Given the description of an element on the screen output the (x, y) to click on. 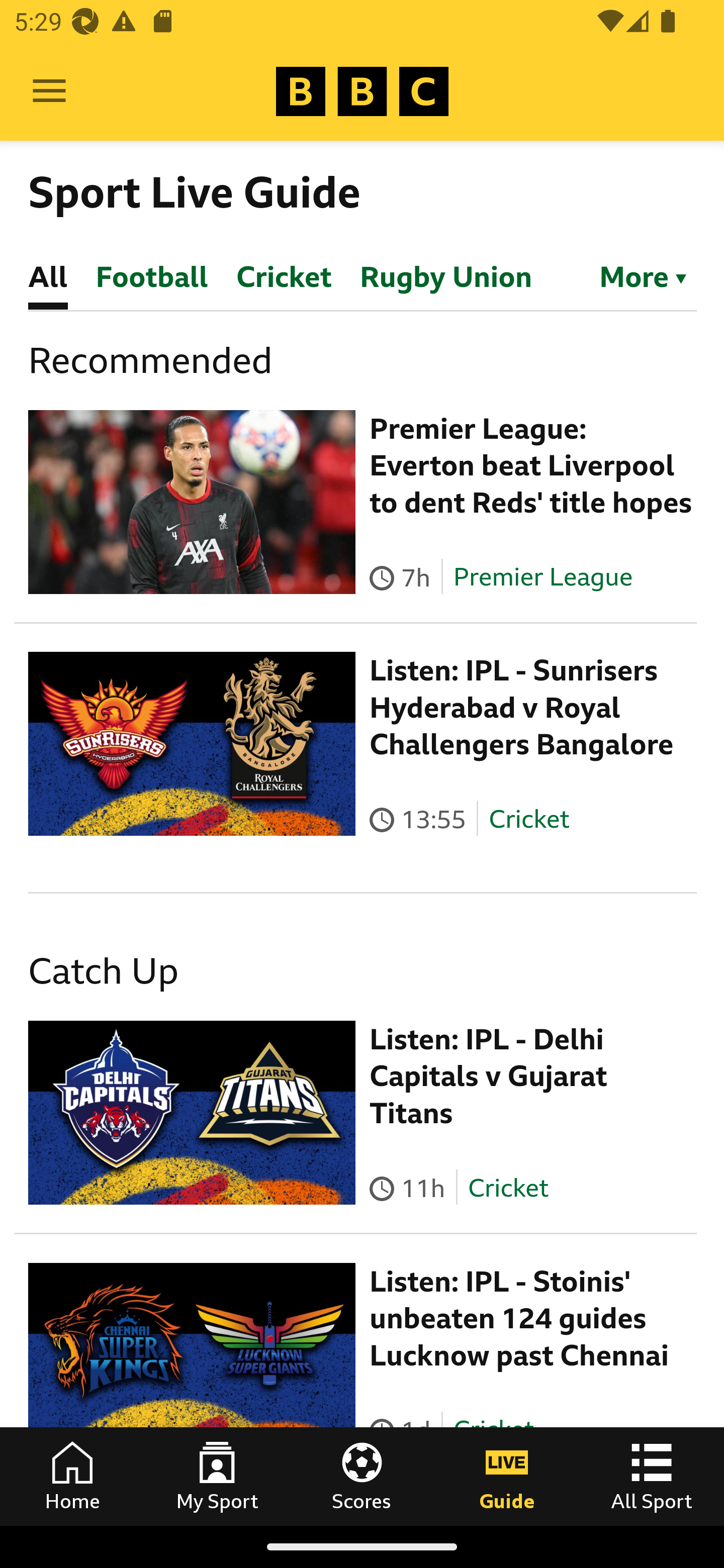
Open Menu (49, 91)
Premier League (542, 576)
Cricket (528, 818)
Listen: IPL - Delhi Capitals v Gujarat Titans (488, 1076)
Cricket (507, 1186)
Home (72, 1475)
My Sport (216, 1475)
Scores (361, 1475)
All Sport (651, 1475)
